Given the description of an element on the screen output the (x, y) to click on. 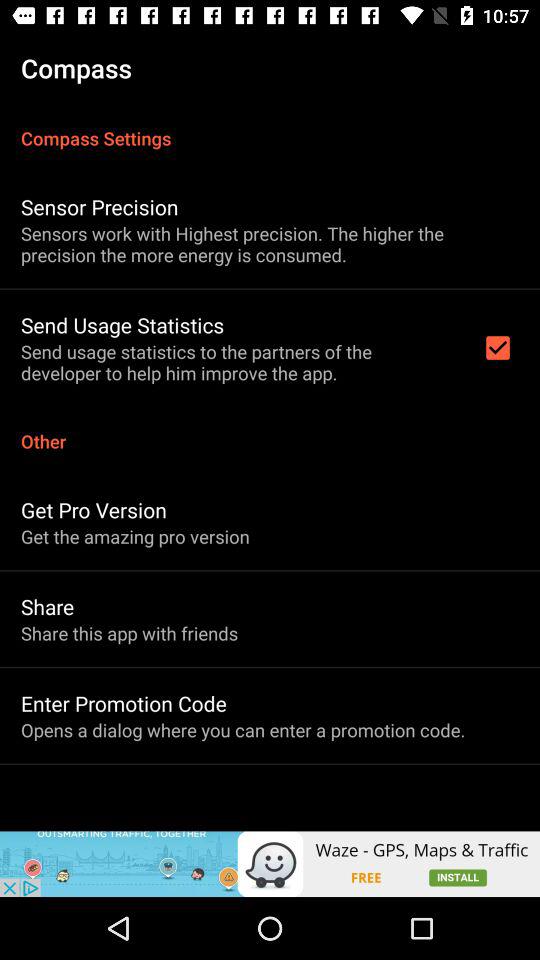
select icon below the send usage statistics (270, 430)
